Given the description of an element on the screen output the (x, y) to click on. 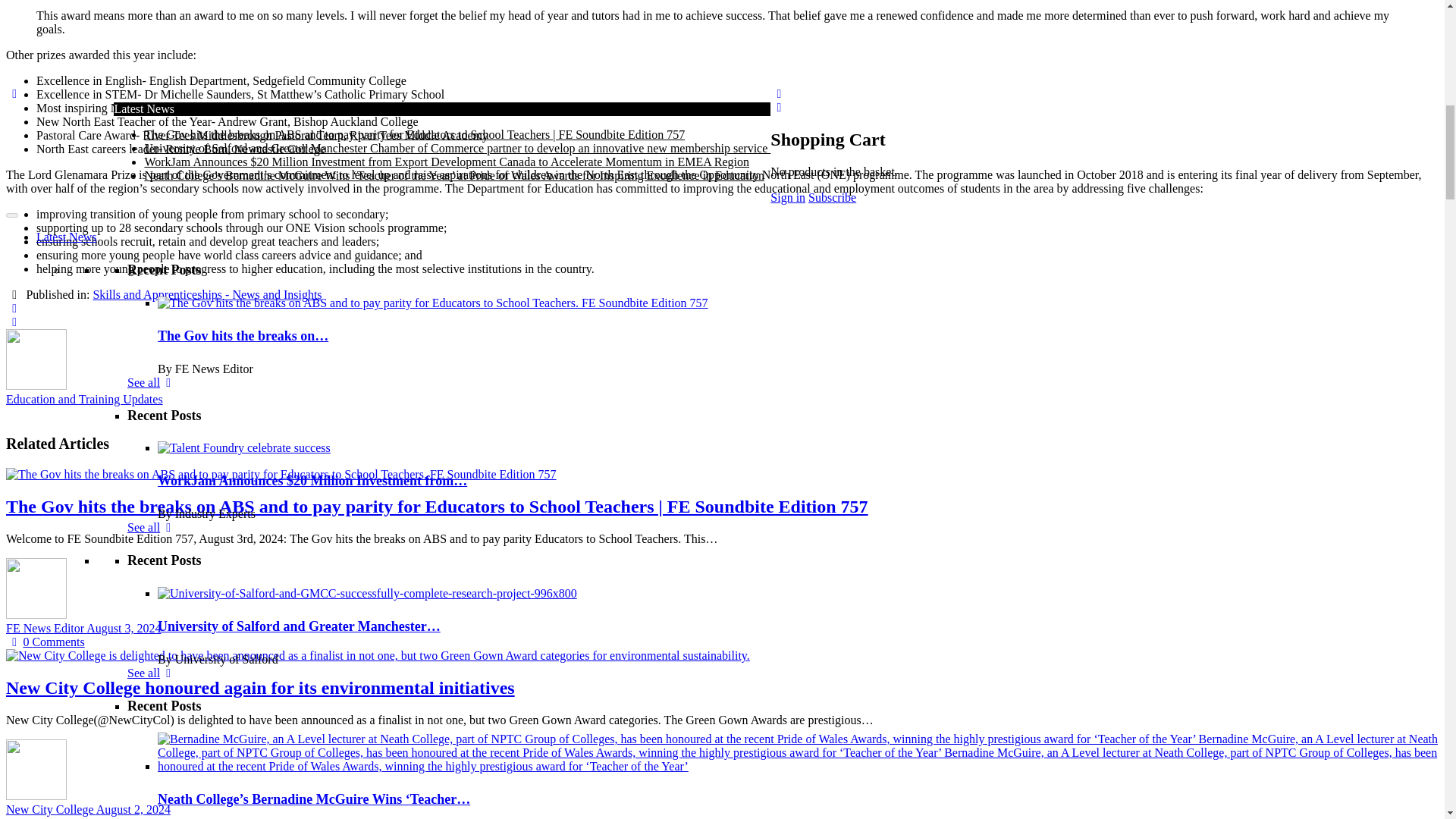
Exclusives (62, 168)
Skills and Apprenticeships - News and Insights (242, 127)
See all (152, 26)
See all (152, 763)
EdTech - News on Education Technology (228, 86)
Work and leadership (177, 113)
Subscribe (166, 154)
Sign in (240, 154)
See all (152, 314)
